Given the description of an element on the screen output the (x, y) to click on. 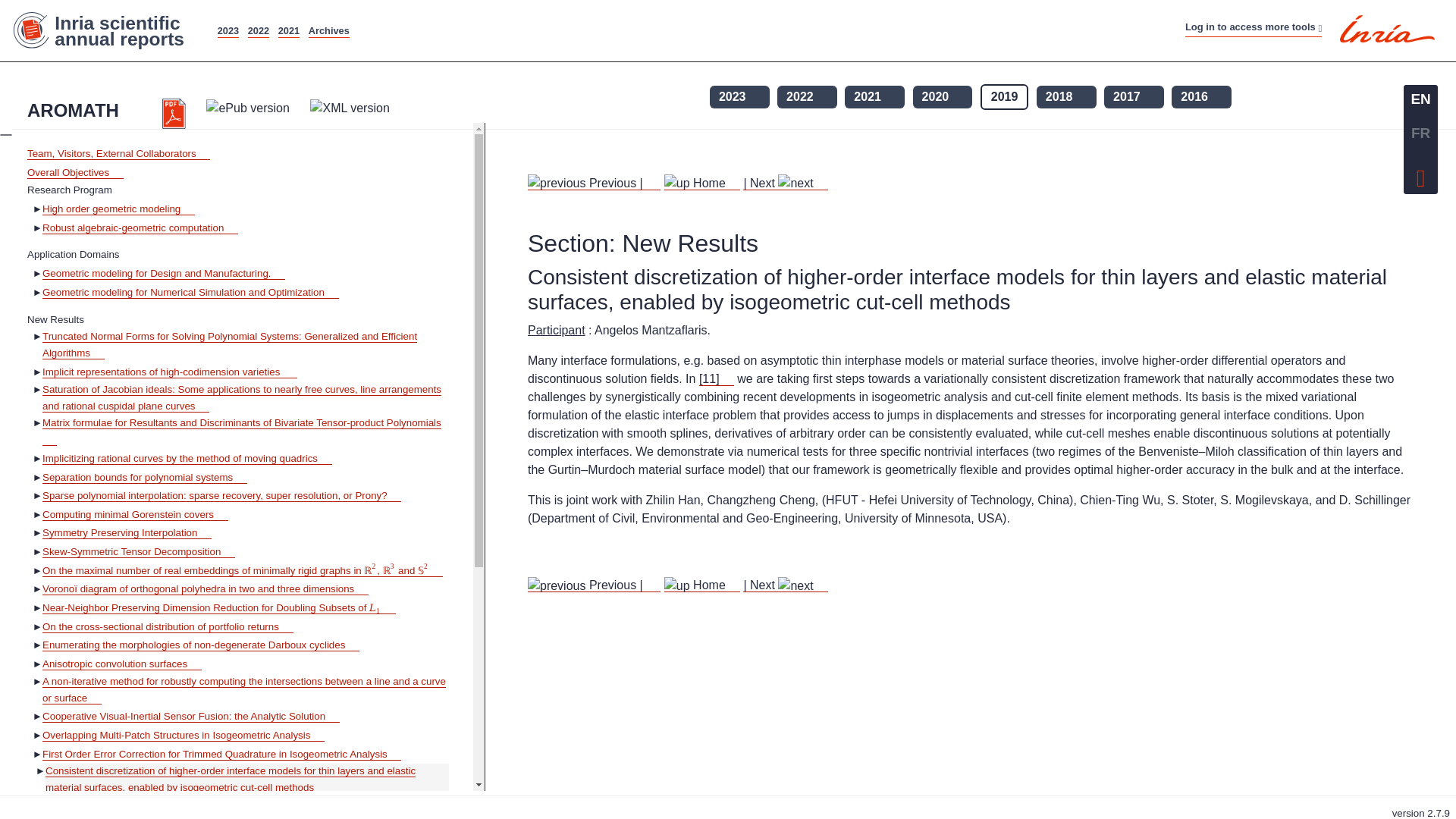
FR (1420, 133)
Site map (686, 23)
Log in to access more tools (1253, 27)
 FR: Use french language (1420, 133)
2021 (288, 30)
Home page - Inria scientific annual reports (106, 30)
2023 annual reports (227, 30)
Search (804, 23)
Accessibility (747, 23)
2021 annual reports (288, 30)
2022 (258, 30)
All archives (328, 30)
Current language en (1420, 99)
AROMATH (81, 110)
2023 (227, 30)
